Given the description of an element on the screen output the (x, y) to click on. 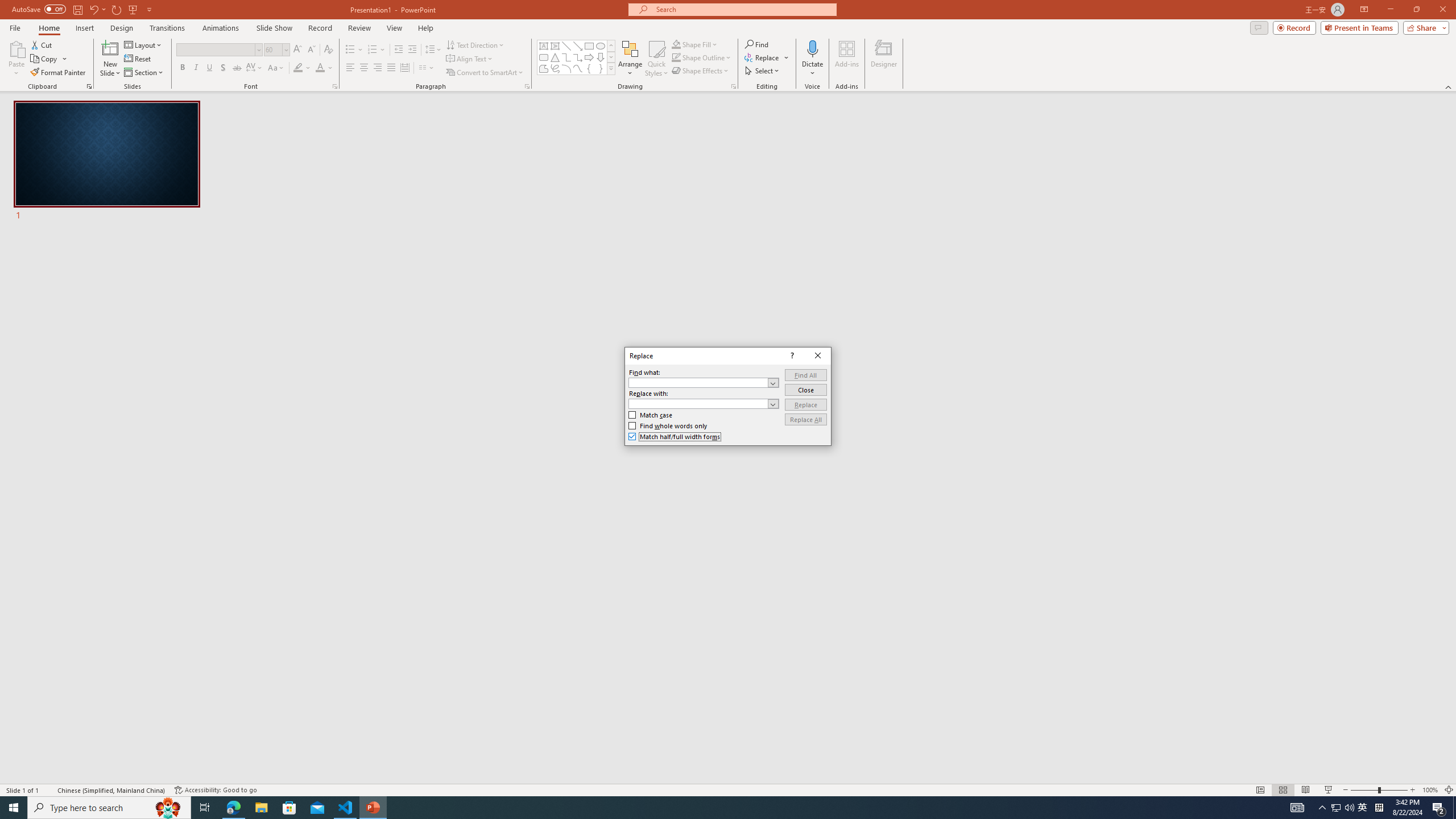
Find All (805, 374)
